Given the description of an element on the screen output the (x, y) to click on. 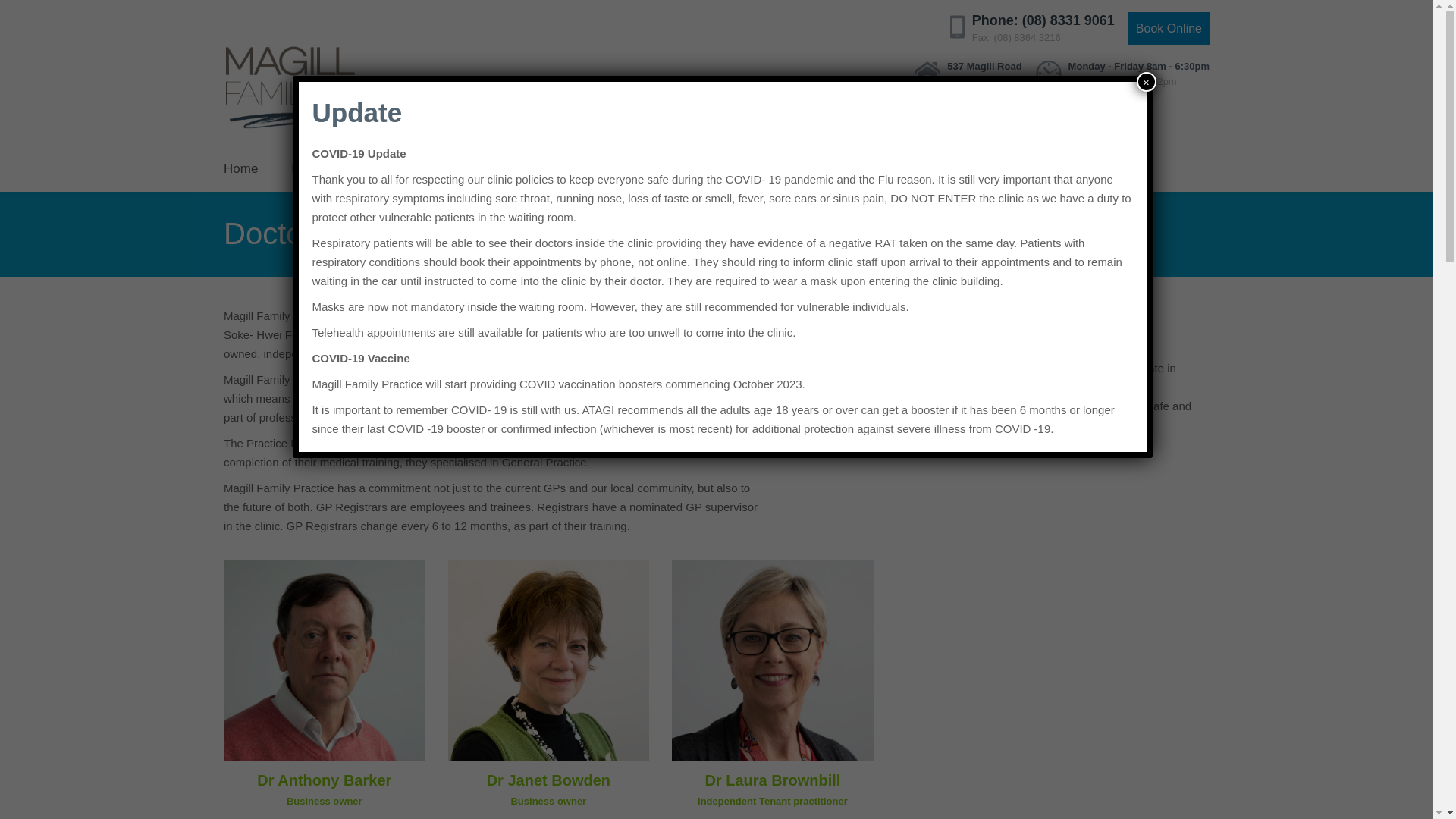
Doctors Element type: text (563, 168)
Contact Element type: text (914, 168)
Services Element type: text (483, 168)
Practice Info Element type: text (326, 168)
Dr Anthony Barker Element type: text (324, 779)
News Element type: text (725, 168)
Join Our Team Element type: text (815, 168)
janet3 Element type: hover (548, 660)
Our Team Element type: text (646, 168)
Dr Laura Brownbill Element type: text (772, 779)
l-brownbill Element type: hover (772, 660)
Fees Element type: text (410, 168)
a-barker Element type: hover (324, 660)
Dr Janet Bowden Element type: text (548, 779)
Book Online Element type: text (1168, 28)
Home Element type: text (248, 168)
